Given the description of an element on the screen output the (x, y) to click on. 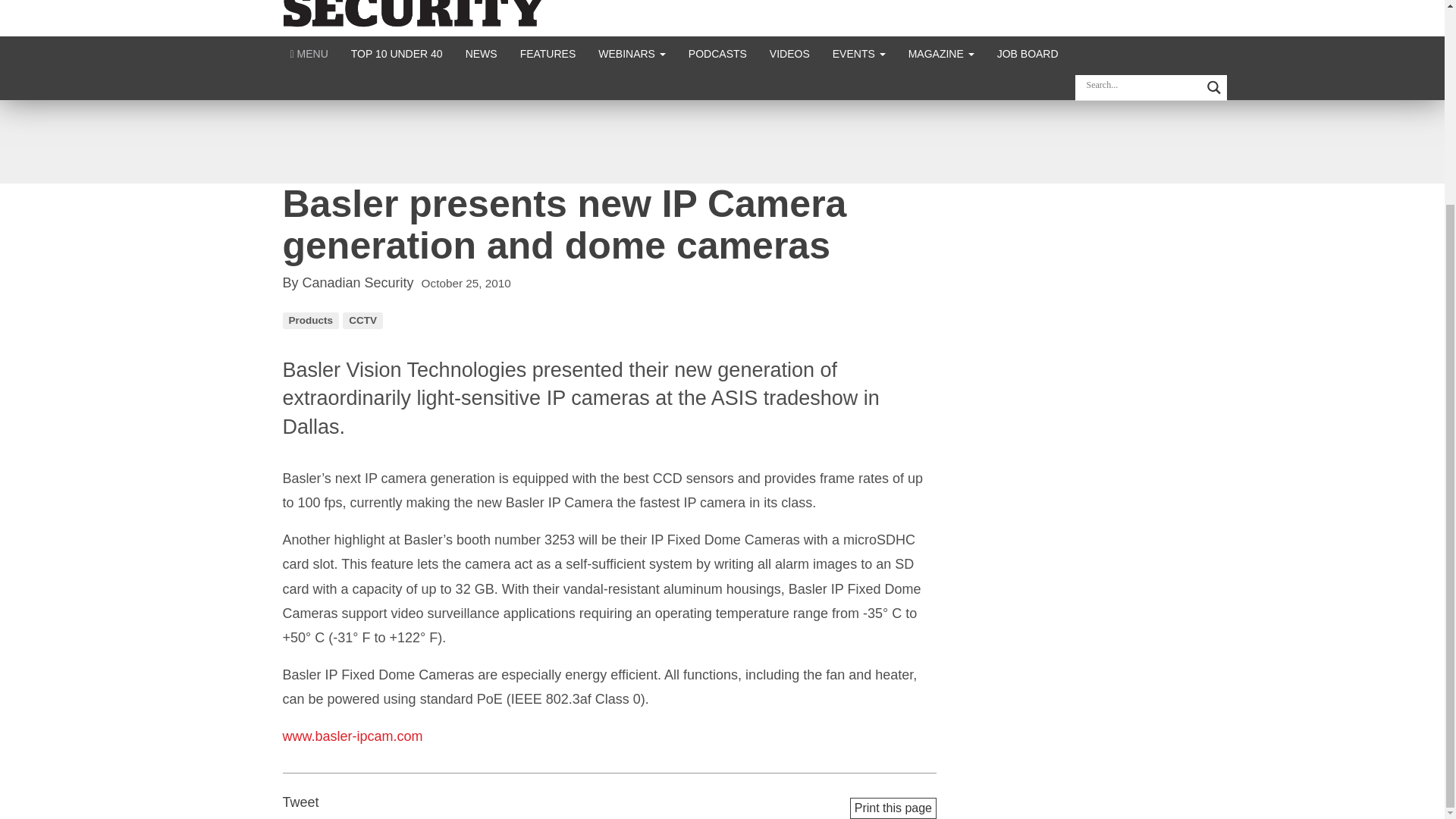
MENU (309, 53)
JOB BOARD (1027, 53)
EVENTS (858, 53)
FEATURES (548, 53)
PODCASTS (717, 53)
TOP 10 UNDER 40 (396, 53)
3rd party ad content (721, 141)
MAGAZINE (940, 53)
VIDEOS (789, 53)
WEBINARS (631, 53)
